Given the description of an element on the screen output the (x, y) to click on. 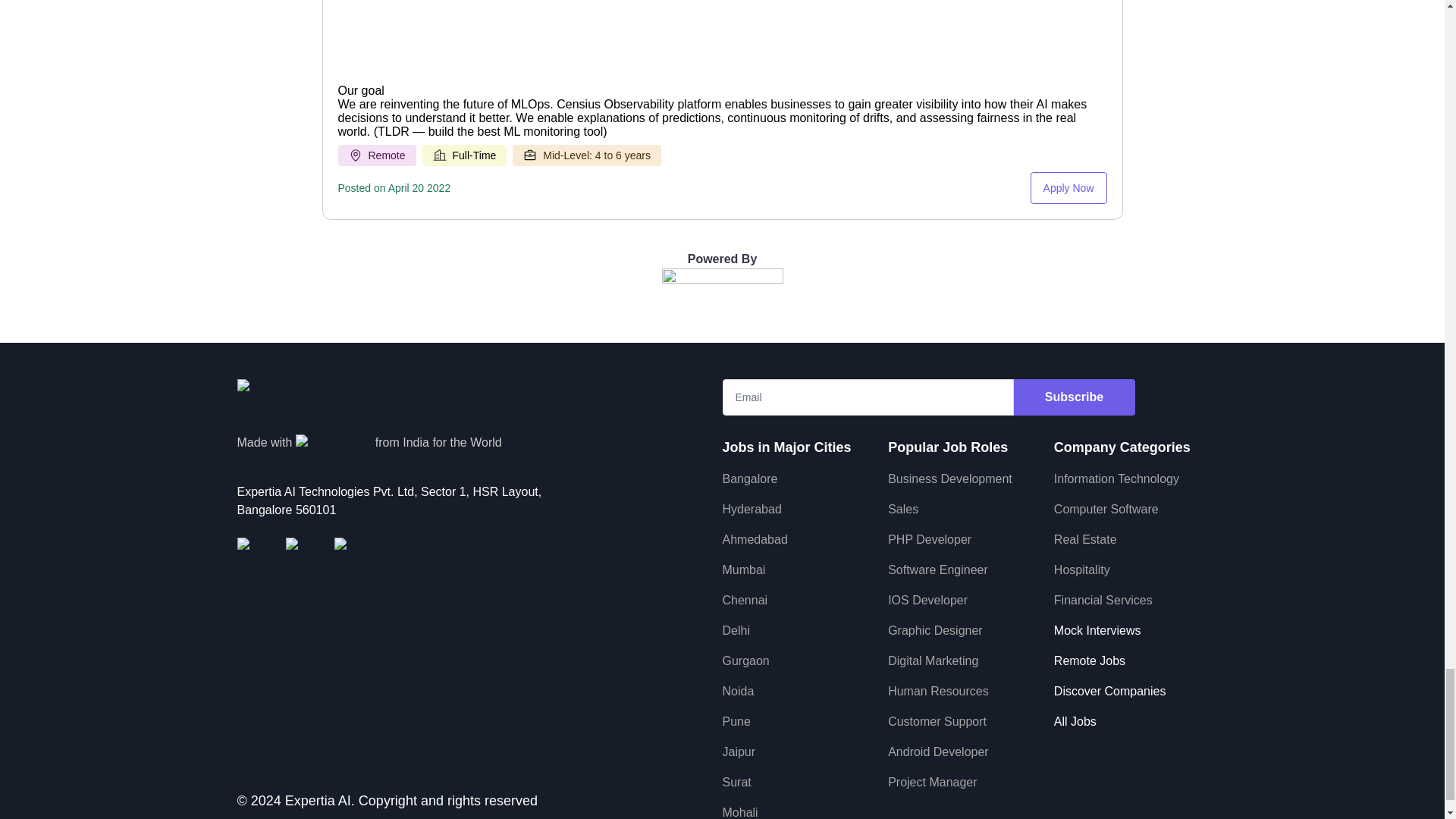
Sales (903, 508)
Surat (736, 781)
Subscribe (1073, 397)
Apply Now (1068, 187)
Mohali (739, 812)
Jaipur (738, 751)
PHP Developer (929, 539)
Software Engineer (938, 569)
IOS Developer (928, 599)
Noida (738, 690)
Bangalore (749, 478)
Mumbai (743, 569)
Business Development (949, 478)
Hyderabad (751, 508)
Delhi (735, 630)
